Given the description of an element on the screen output the (x, y) to click on. 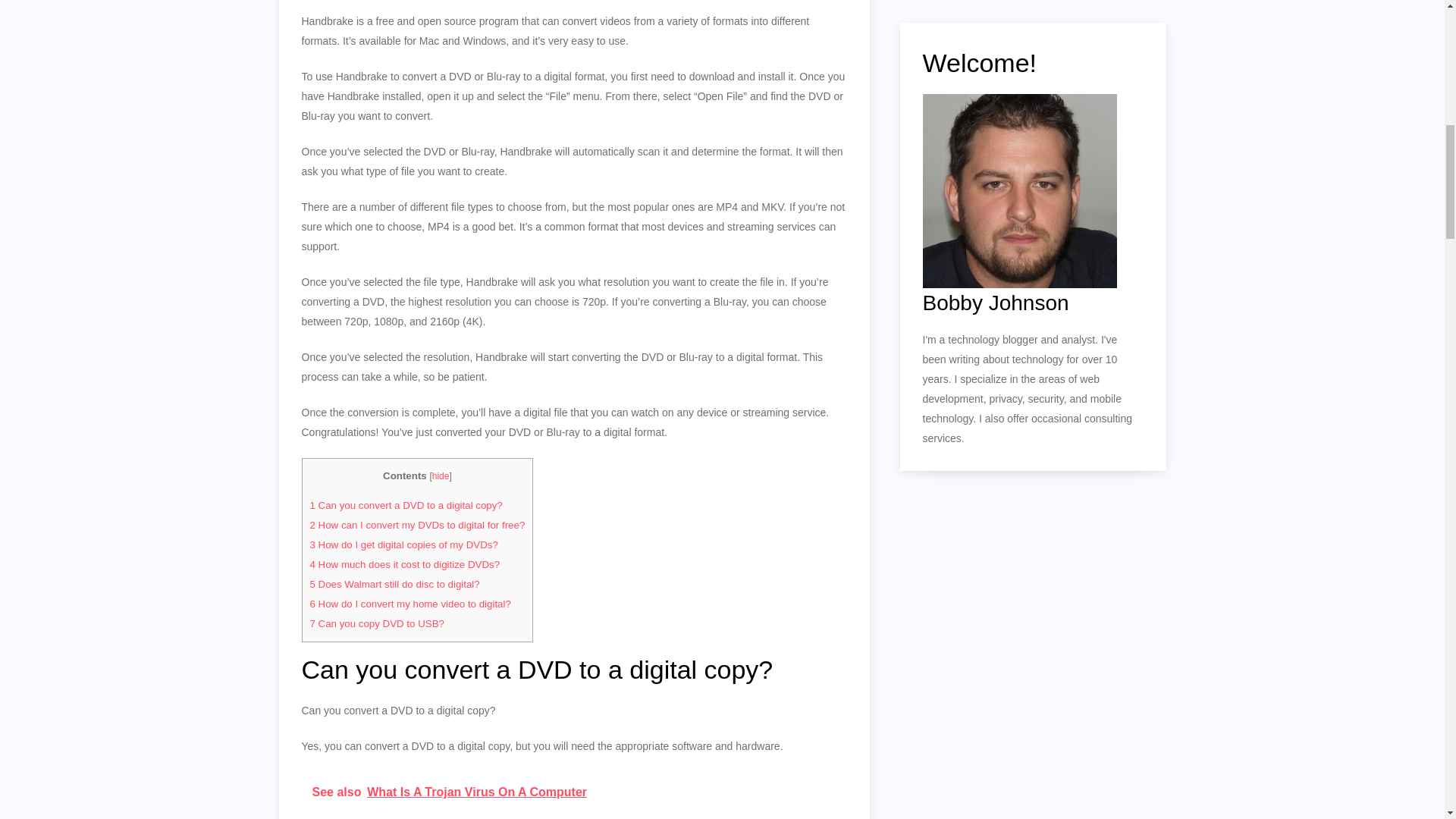
hide (440, 475)
7 Can you copy DVD to USB? (376, 623)
6 How do I convert my home video to digital? (409, 603)
See also  What Is A Trojan Virus On A Computer (574, 792)
4 How much does it cost to digitize DVDs? (403, 564)
5 Does Walmart still do disc to digital? (393, 583)
1 Can you convert a DVD to a digital copy? (405, 505)
2 How can I convert my DVDs to digital for free? (416, 524)
3 How do I get digital copies of my DVDs? (402, 544)
